Given the description of an element on the screen output the (x, y) to click on. 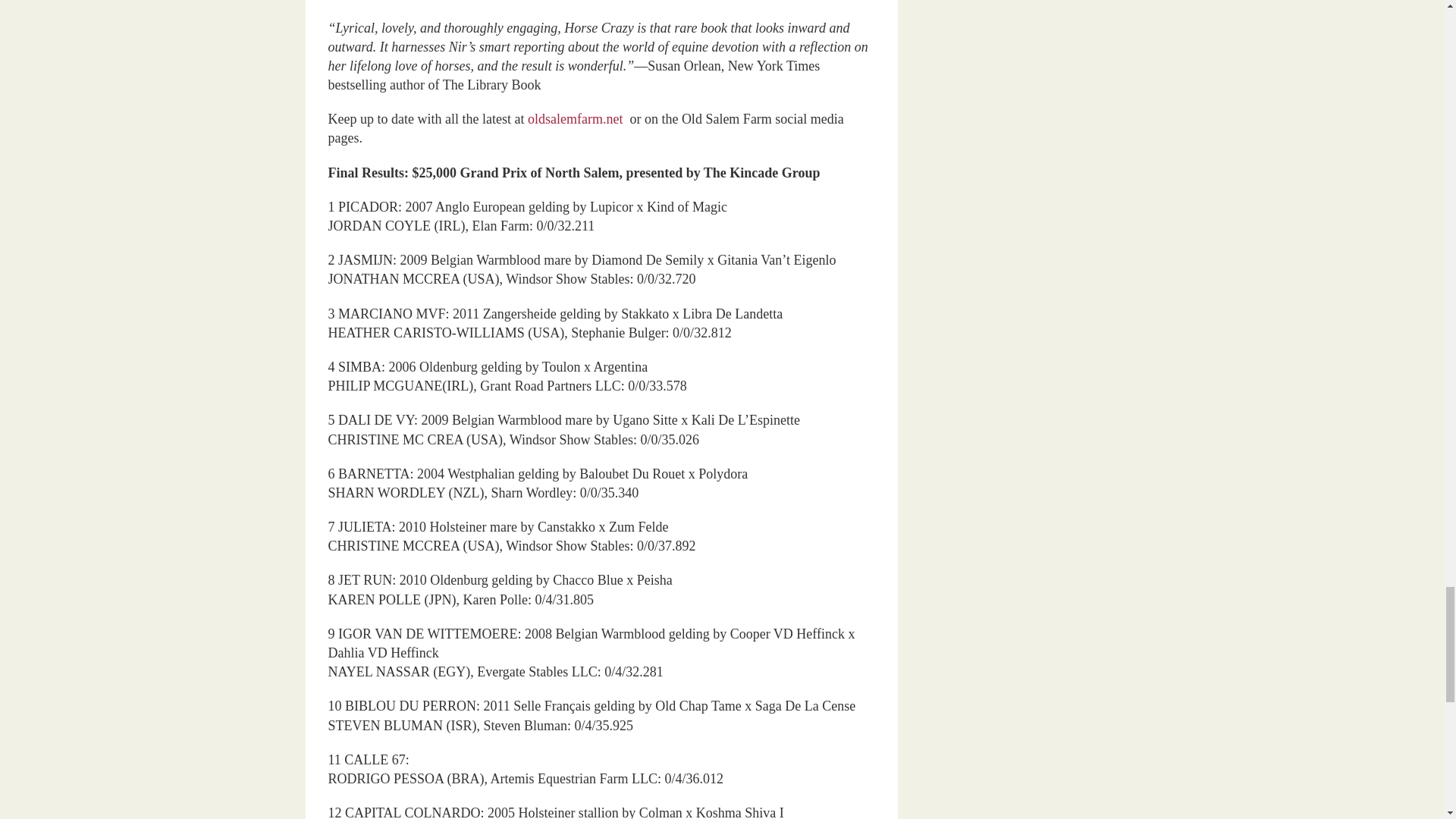
oldsalemfarm.net   (577, 118)
